Given the description of an element on the screen output the (x, y) to click on. 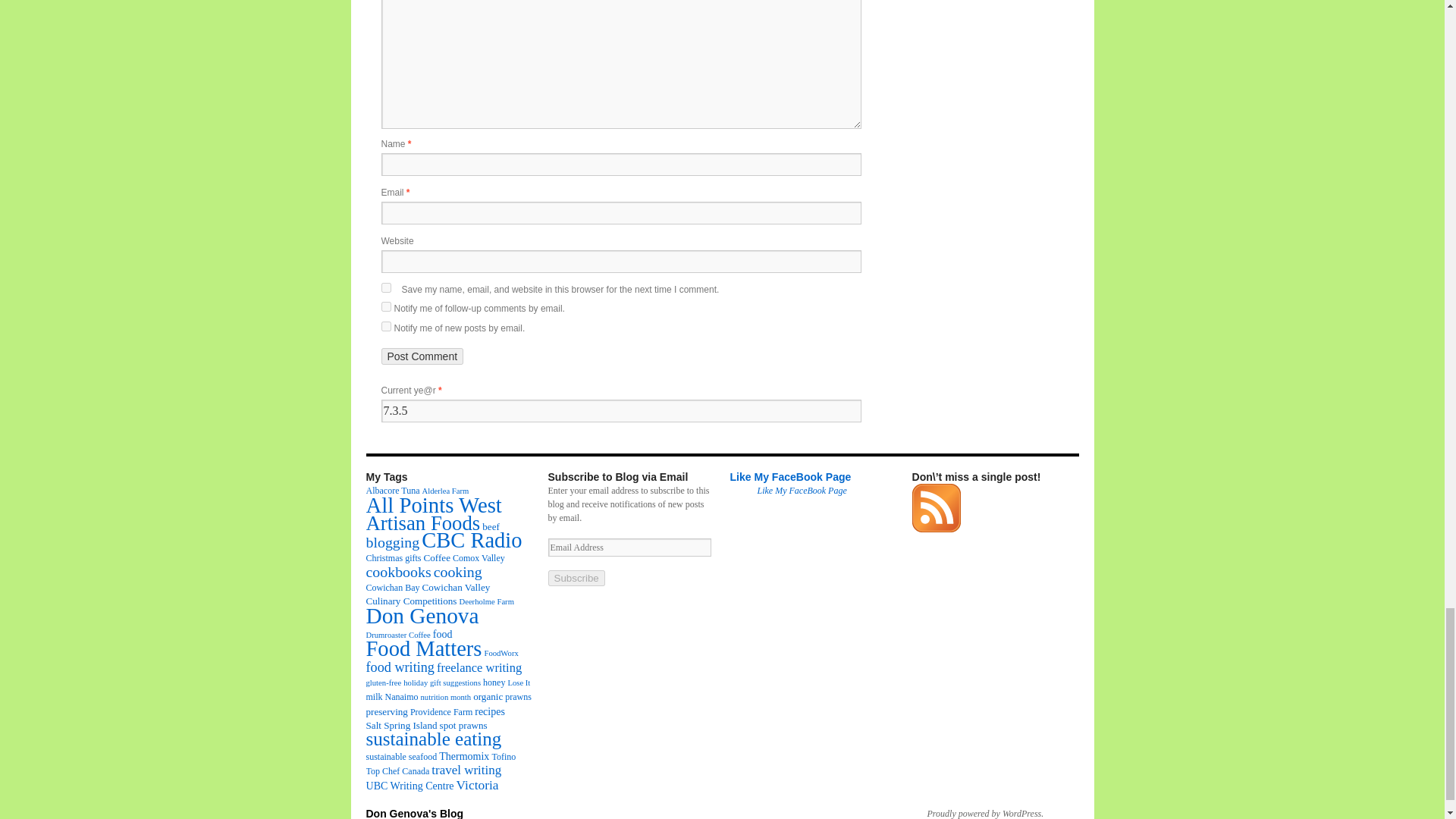
subscribe (385, 307)
Post Comment (421, 356)
Post Comment (421, 356)
7.3.5 (620, 410)
yes (385, 287)
Subscribe to posts (935, 529)
subscribe (385, 326)
